Given the description of an element on the screen output the (x, y) to click on. 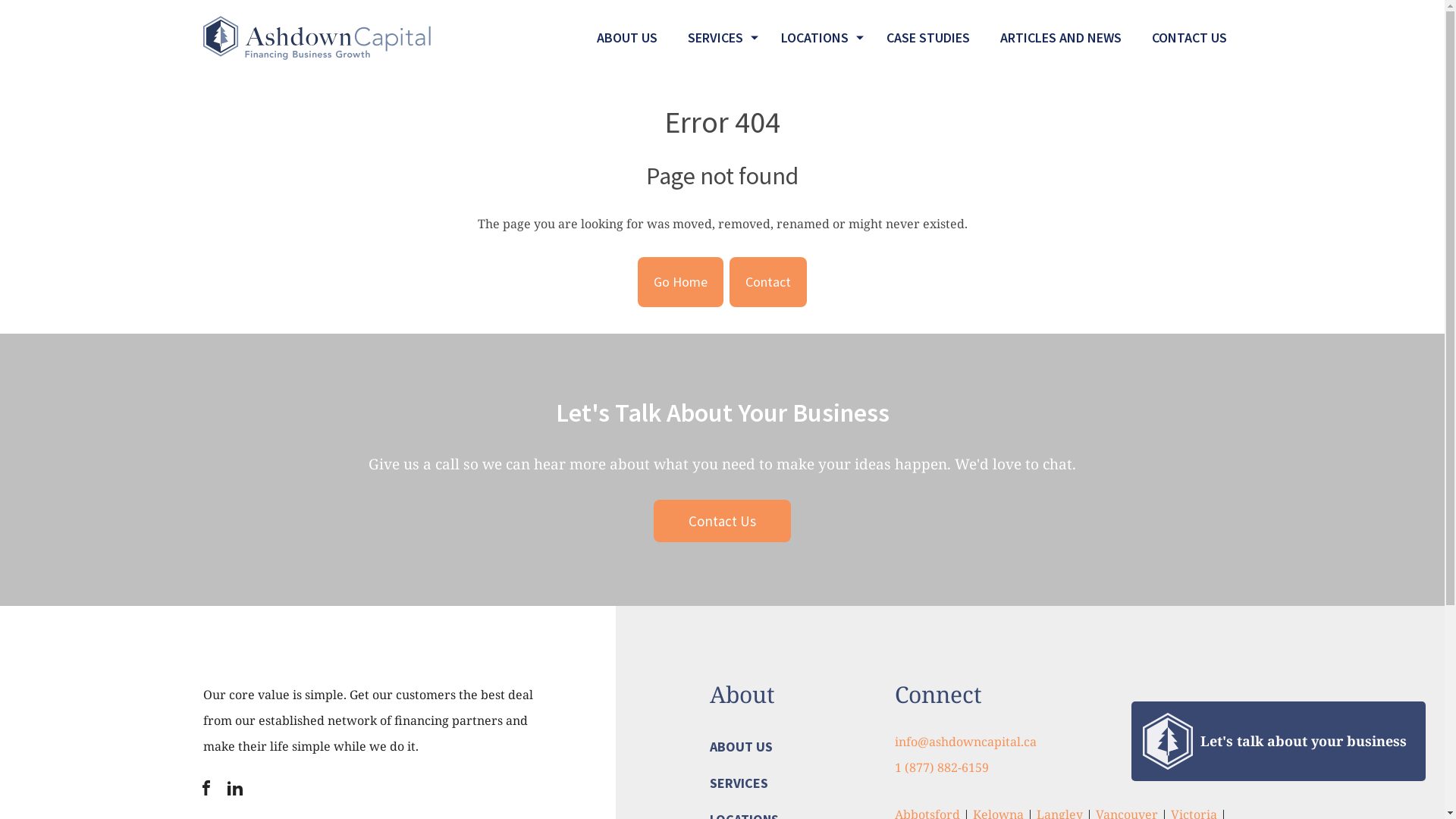
LOCATIONS Element type: text (818, 37)
CASE STUDIES Element type: text (927, 37)
CONTACT US Element type: text (1188, 37)
info@ashdowncapital.ca Element type: text (965, 741)
Contact Us Element type: text (721, 520)
ABOUT US Element type: text (625, 37)
Contact Element type: text (767, 282)
ABOUT US Element type: text (740, 748)
SERVICES Element type: text (738, 784)
SERVICES Element type: text (718, 37)
1 (877) 882-6159 Element type: text (941, 767)
ARTICLES AND NEWS Element type: text (1059, 37)
Go Home Element type: text (680, 282)
